Given the description of an element on the screen output the (x, y) to click on. 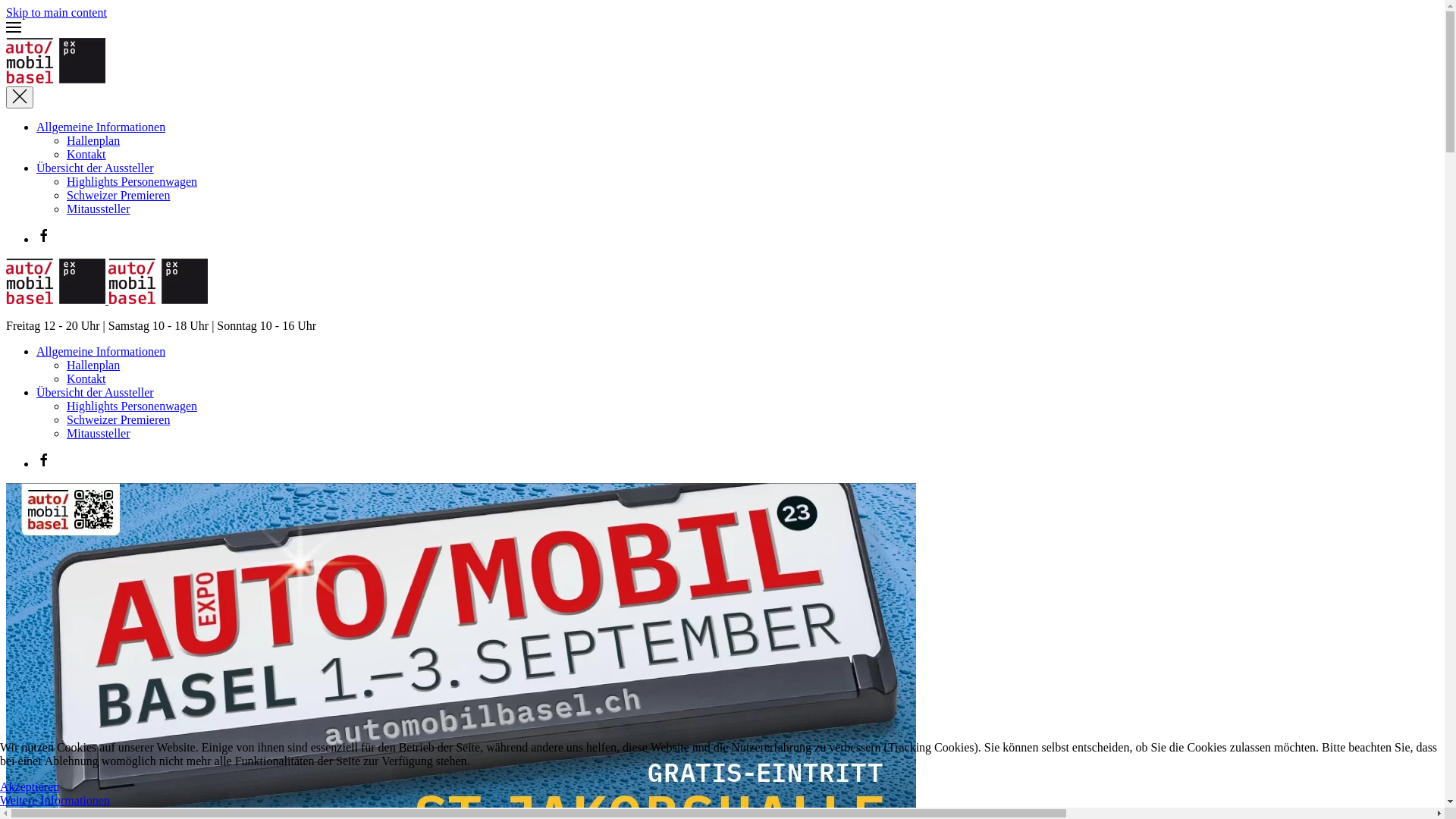
Mitaussteller Element type: text (98, 432)
Schweizer Premieren Element type: text (117, 419)
Mitaussteller Element type: text (98, 208)
Hallenplan Element type: text (92, 364)
Weitere Informationen Element type: text (54, 799)
Schweizer Premieren Element type: text (117, 194)
Highlights Personenwagen Element type: text (131, 405)
Allgemeine Informationen Element type: text (100, 351)
Hallenplan Element type: text (92, 140)
Akzeptieren Element type: text (29, 786)
Highlights Personenwagen Element type: text (131, 181)
Allgemeine Informationen Element type: text (100, 126)
Kontakt Element type: text (86, 378)
Kontakt Element type: text (86, 153)
Skip to main content Element type: text (56, 12)
